Given the description of an element on the screen output the (x, y) to click on. 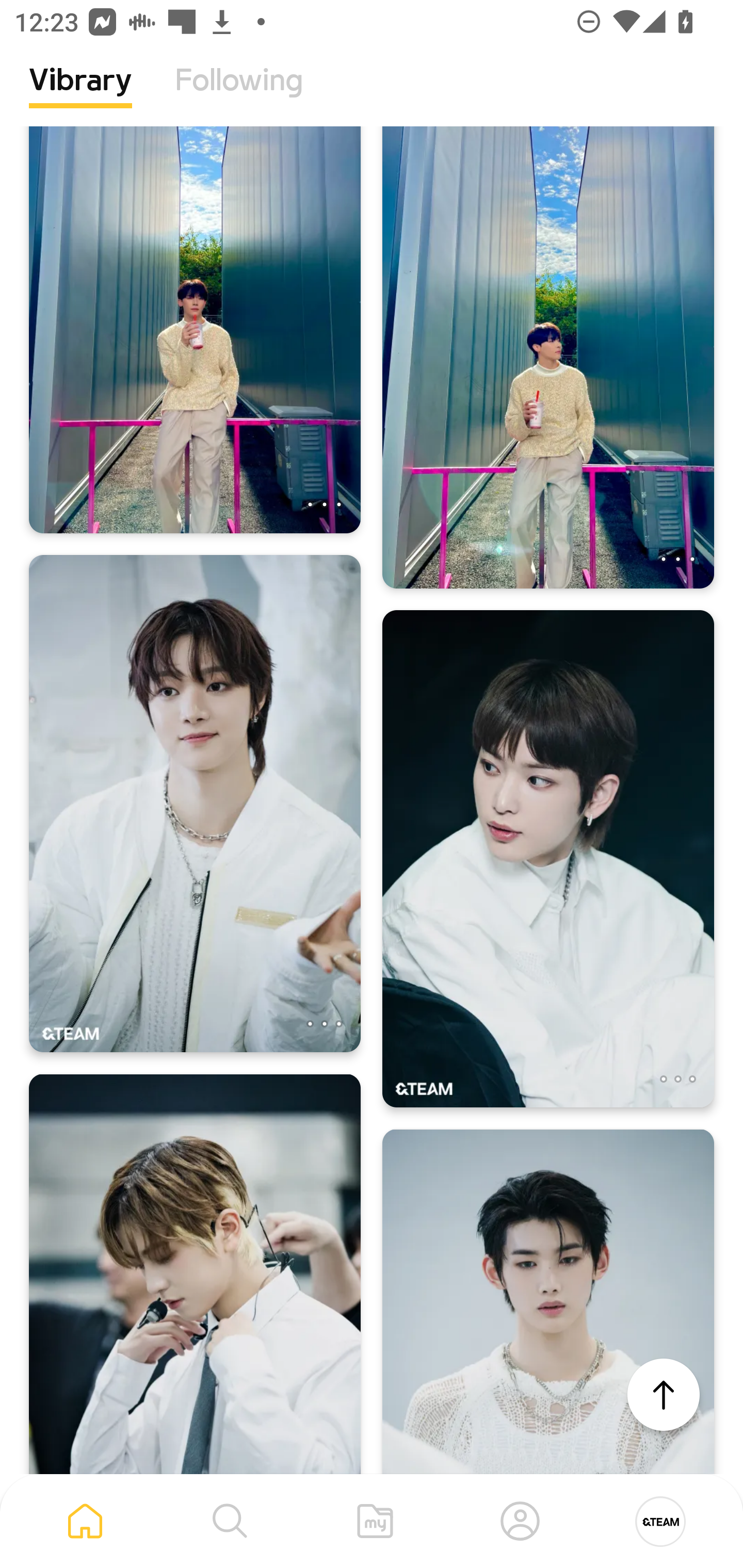
Vibrary (80, 95)
Following (239, 95)
